Given the description of an element on the screen output the (x, y) to click on. 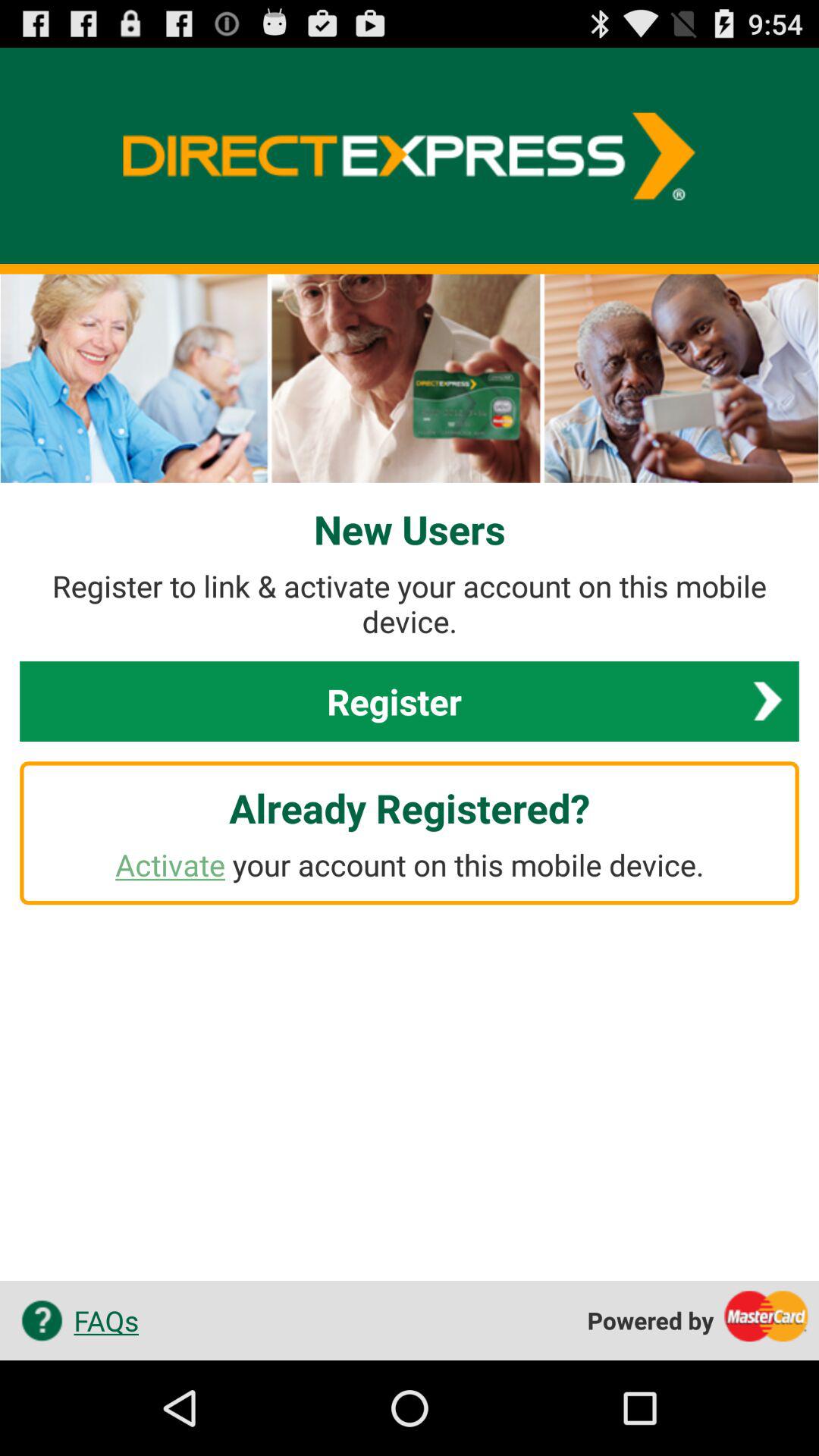
press the app next to the powered by icon (74, 1320)
